Given the description of an element on the screen output the (x, y) to click on. 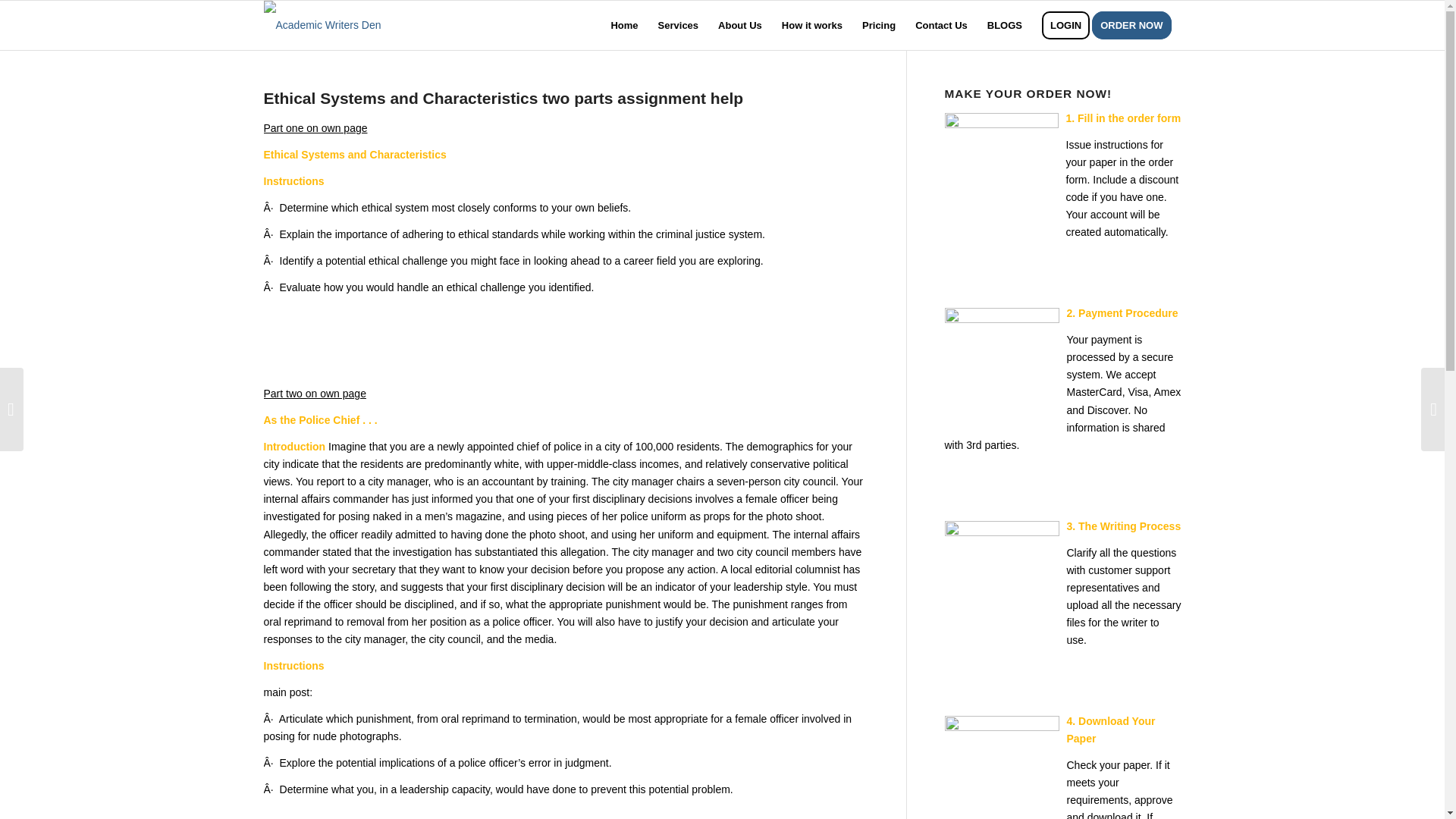
LOGIN (1065, 24)
ORDER NOW (1136, 24)
Home (623, 24)
About Us (739, 24)
Contact Us (940, 24)
Pricing (878, 24)
Services (678, 24)
BLOGS (1004, 24)
How it works (811, 24)
